Given the description of an element on the screen output the (x, y) to click on. 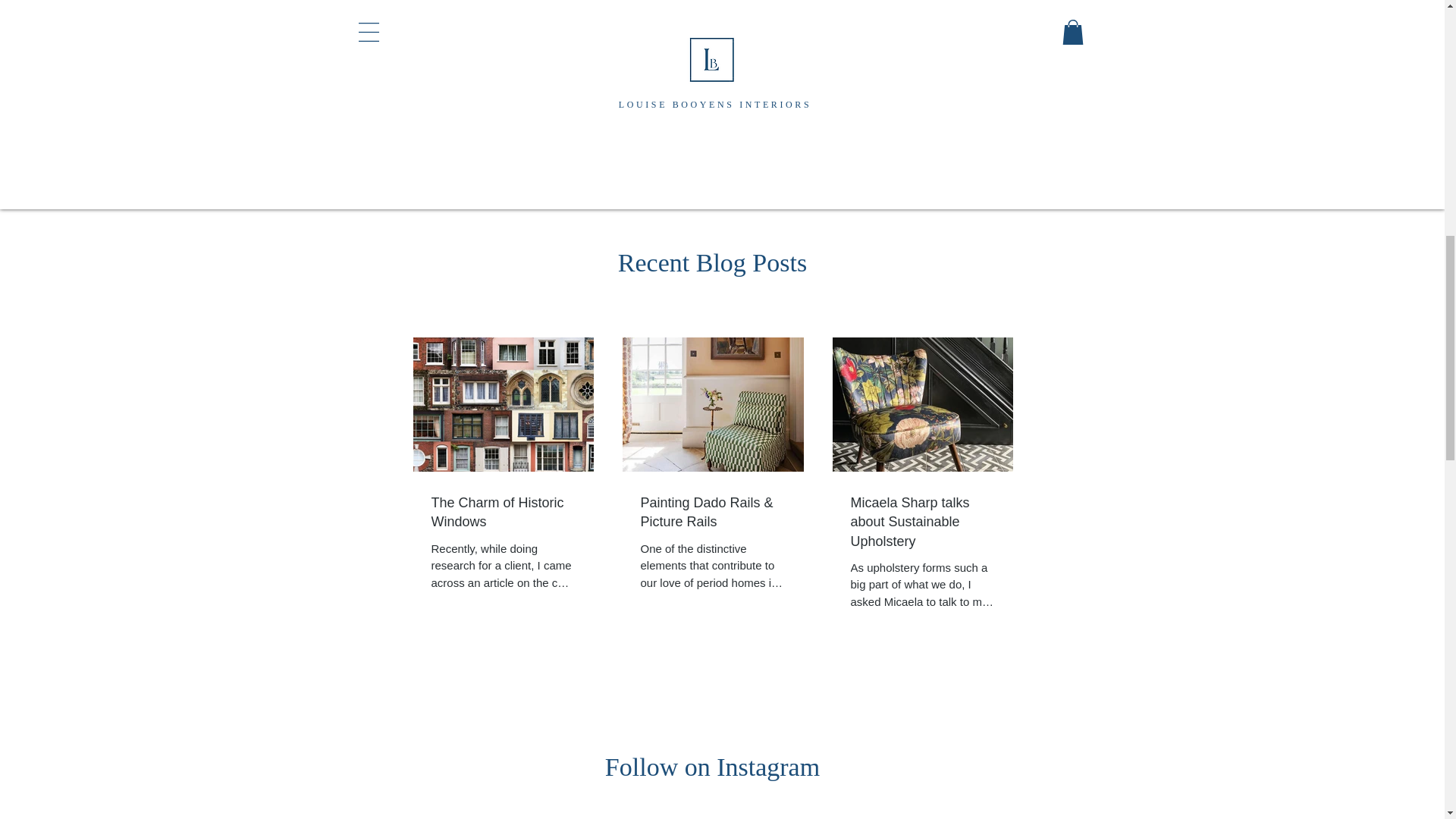
Micaela Sharp talks about Sustainable Upholstery (922, 522)
Follow on Instagram (712, 766)
The Charm of Historic Windows (502, 512)
